Given the description of an element on the screen output the (x, y) to click on. 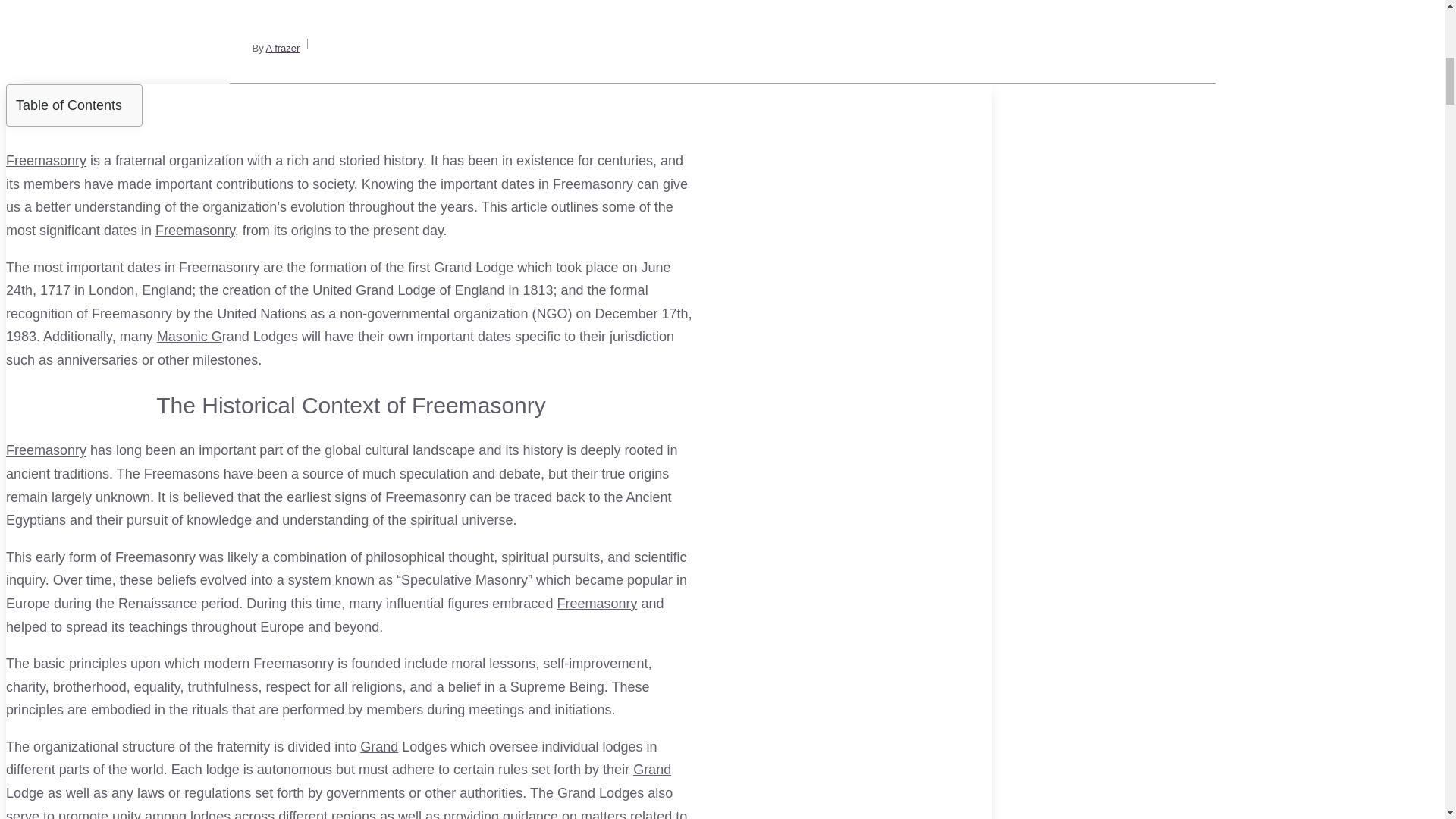
Grand (652, 769)
Freemasonry (45, 450)
A frazer (282, 48)
Grand (576, 792)
Freemasonry (596, 603)
Freemasonry (596, 603)
Freemasonry (194, 230)
Provincial Grand Lodge Of Herefordshire (378, 746)
Grand (378, 746)
Freemasonry (45, 160)
Masonic G (189, 336)
Provincial Grand Lodge Of Gloucestershire (576, 792)
Provincial Grand Lodge Of Sussex (652, 769)
Freemasonry (45, 450)
Freemasonry (593, 183)
